Given the description of an element on the screen output the (x, y) to click on. 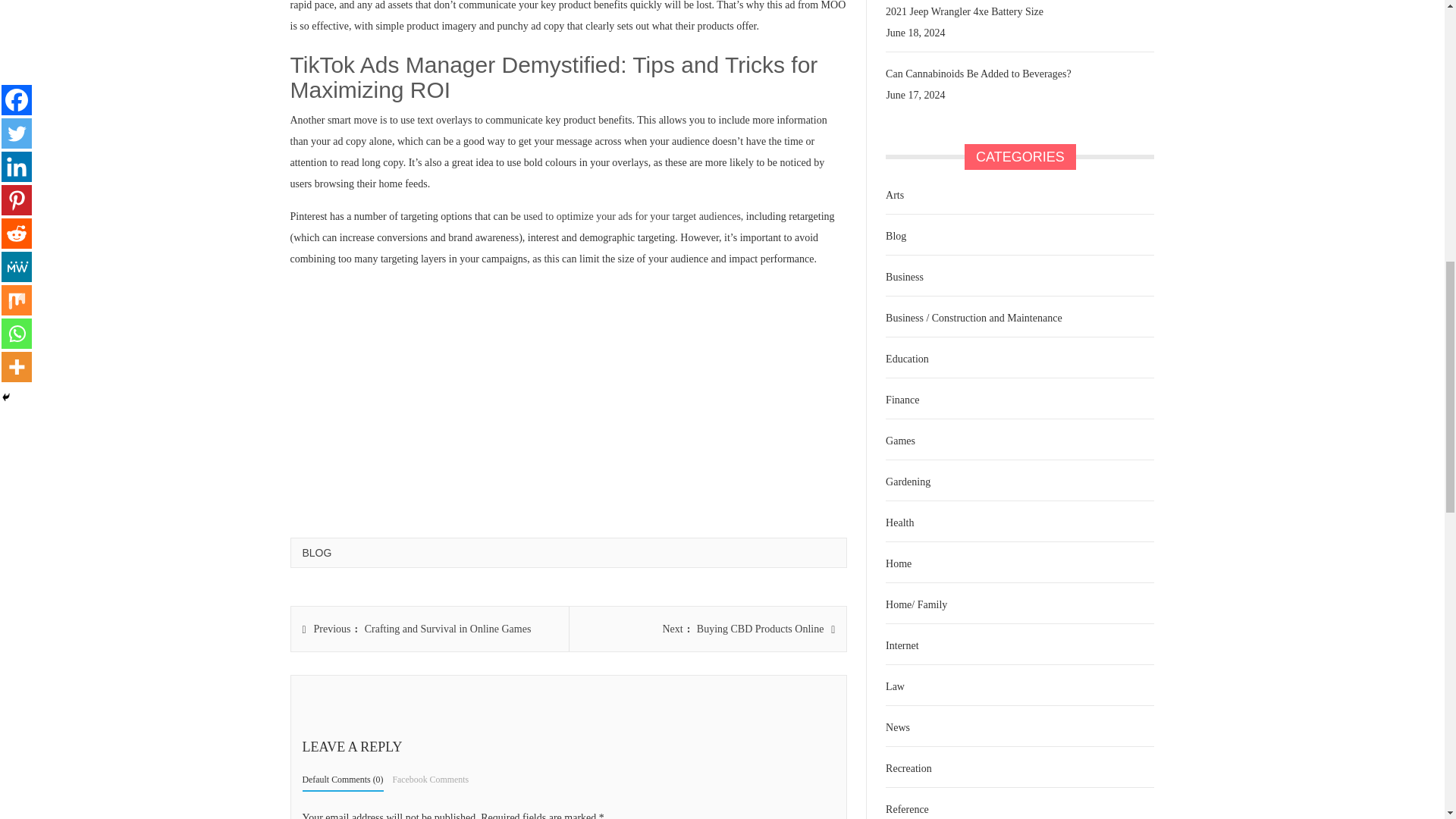
used to optimize your ads for your target audiences, (632, 215)
